Given the description of an element on the screen output the (x, y) to click on. 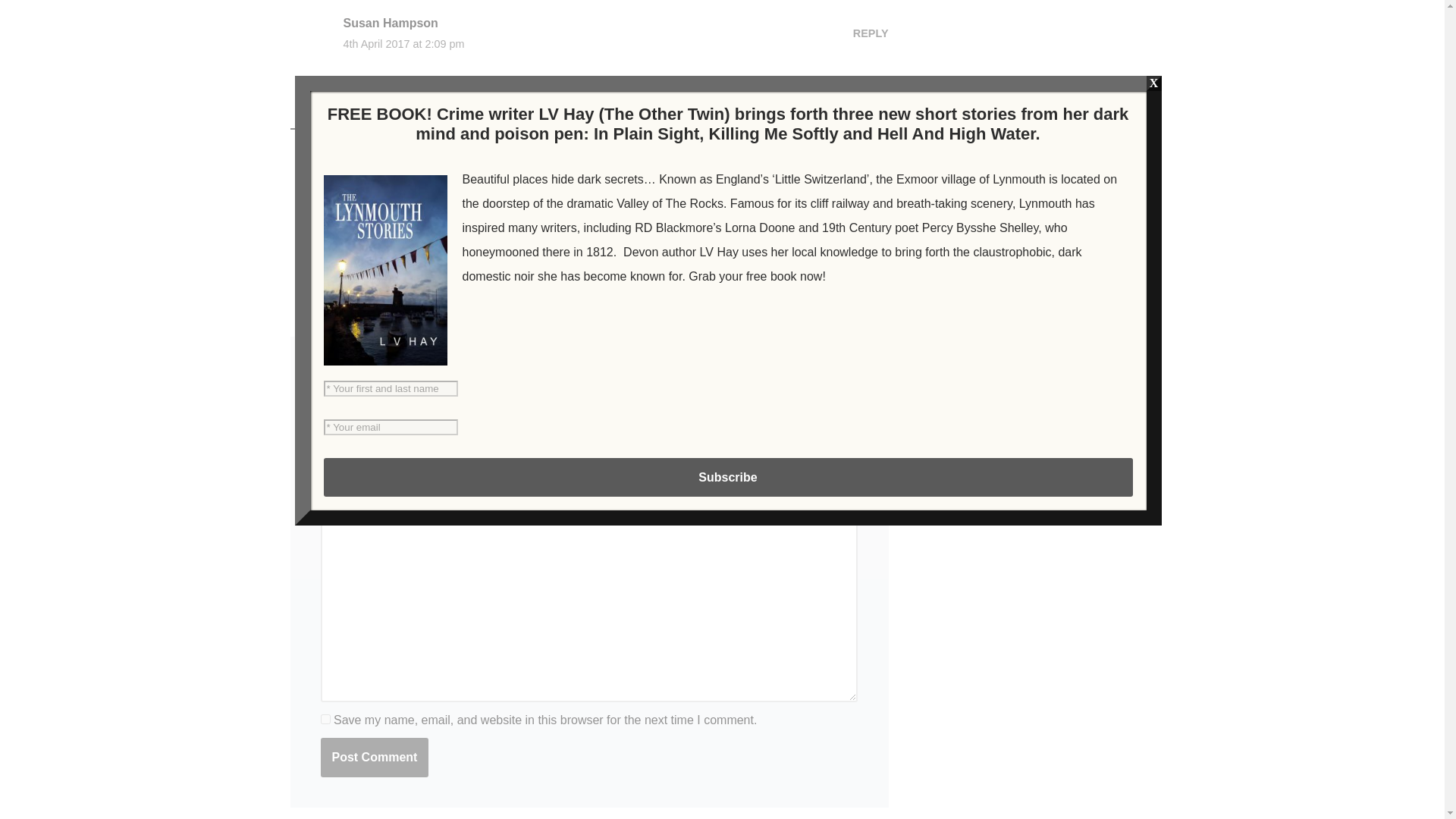
Post Comment (374, 757)
